Given the description of an element on the screen output the (x, y) to click on. 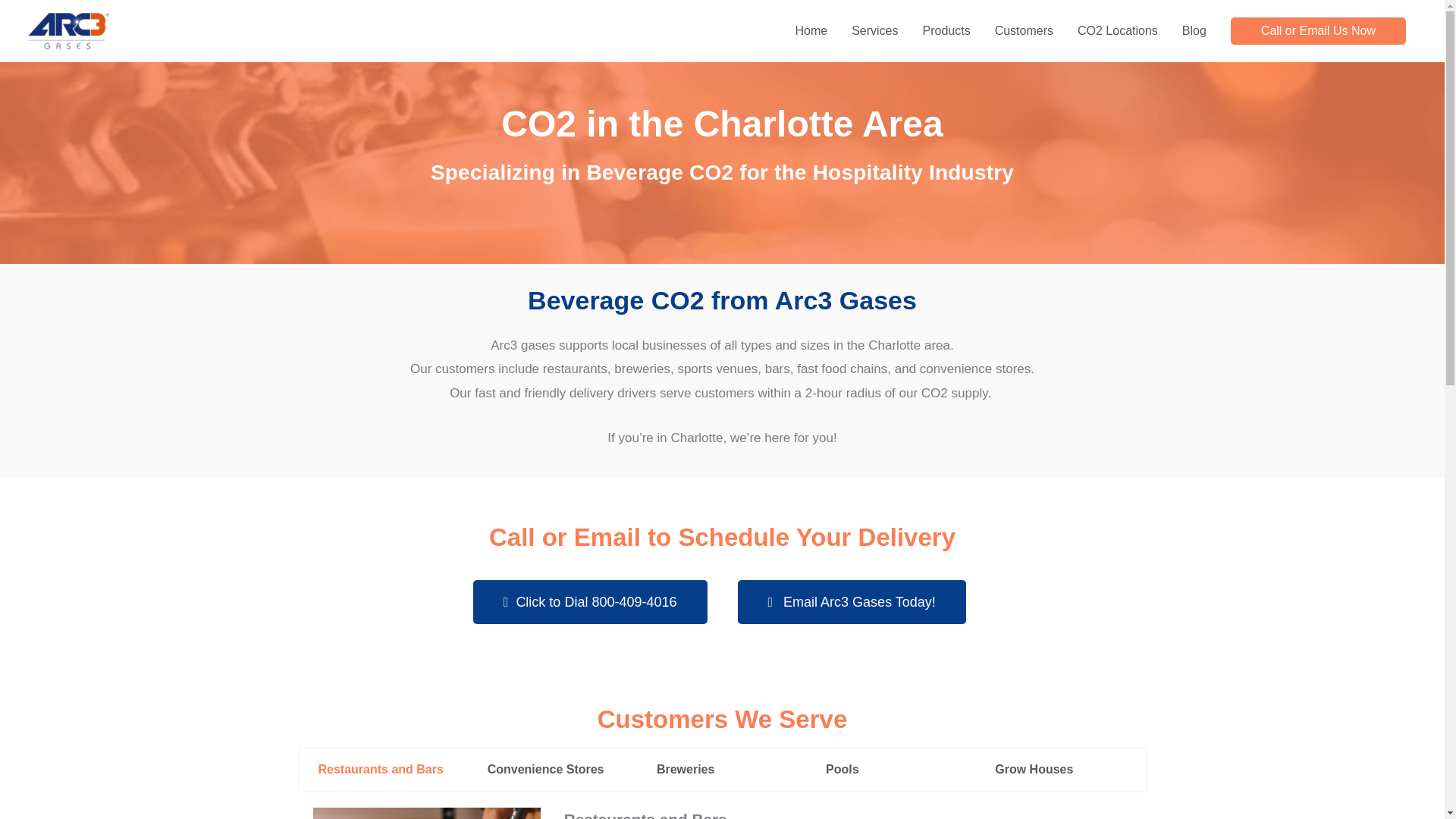
Customers (1023, 31)
Services (875, 31)
Call or Email Us Now (1318, 31)
Email Arc3 Gases Today! (850, 601)
Products (945, 31)
CO2 Locations (1117, 31)
Home (811, 31)
Click to Dial 800-409-4016 (590, 601)
